Given the description of an element on the screen output the (x, y) to click on. 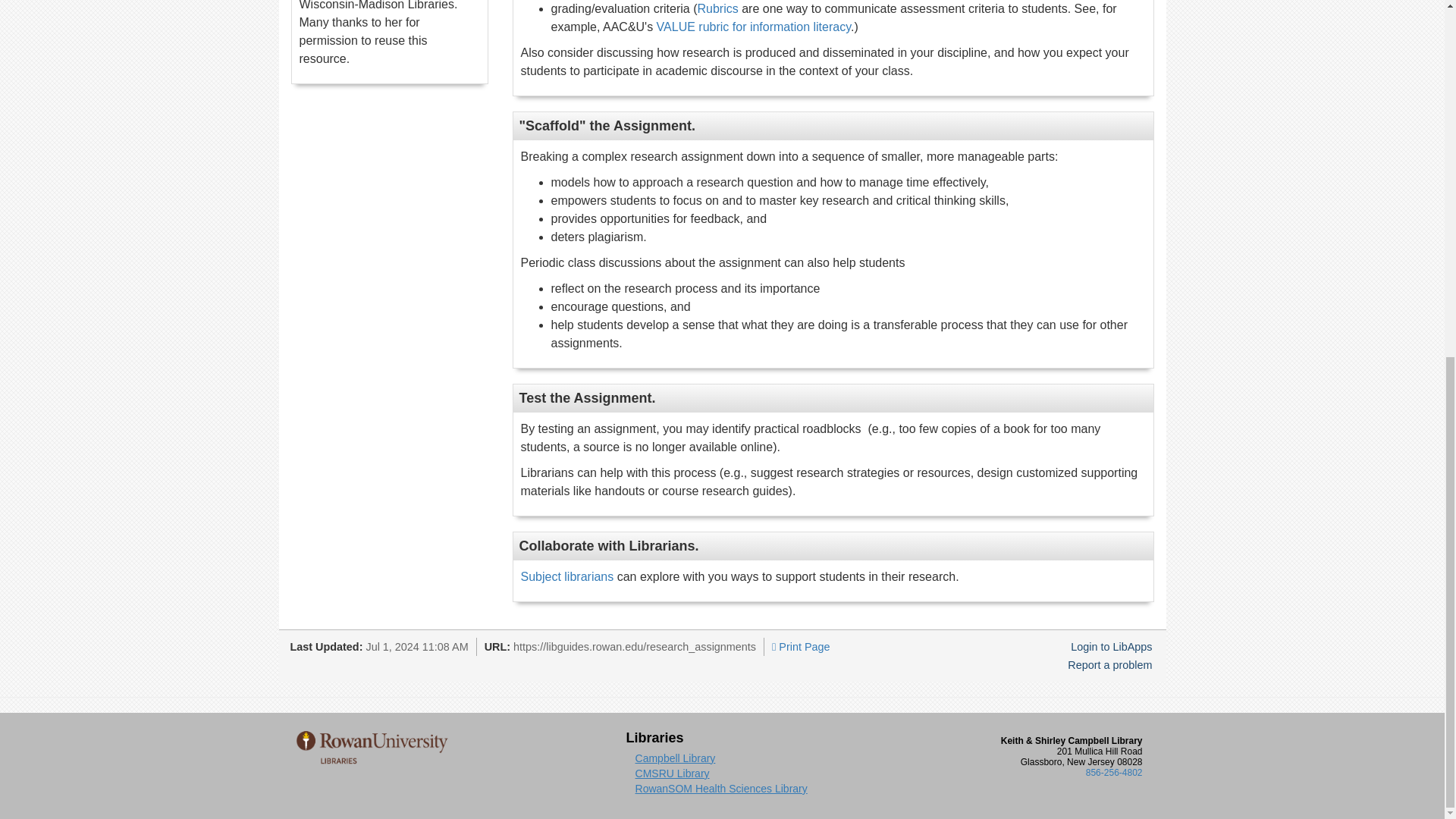
Rubrics (717, 8)
CMSRU Library (672, 773)
Print Page (800, 646)
RowanSOM Health Sciences Library (721, 788)
856-256-4802 (1114, 772)
VALUE rubric for information literacy (753, 26)
Report a problem (1109, 664)
Login to LibApps (1110, 646)
Campbell Library (675, 758)
Subject librarians (565, 576)
